Given the description of an element on the screen output the (x, y) to click on. 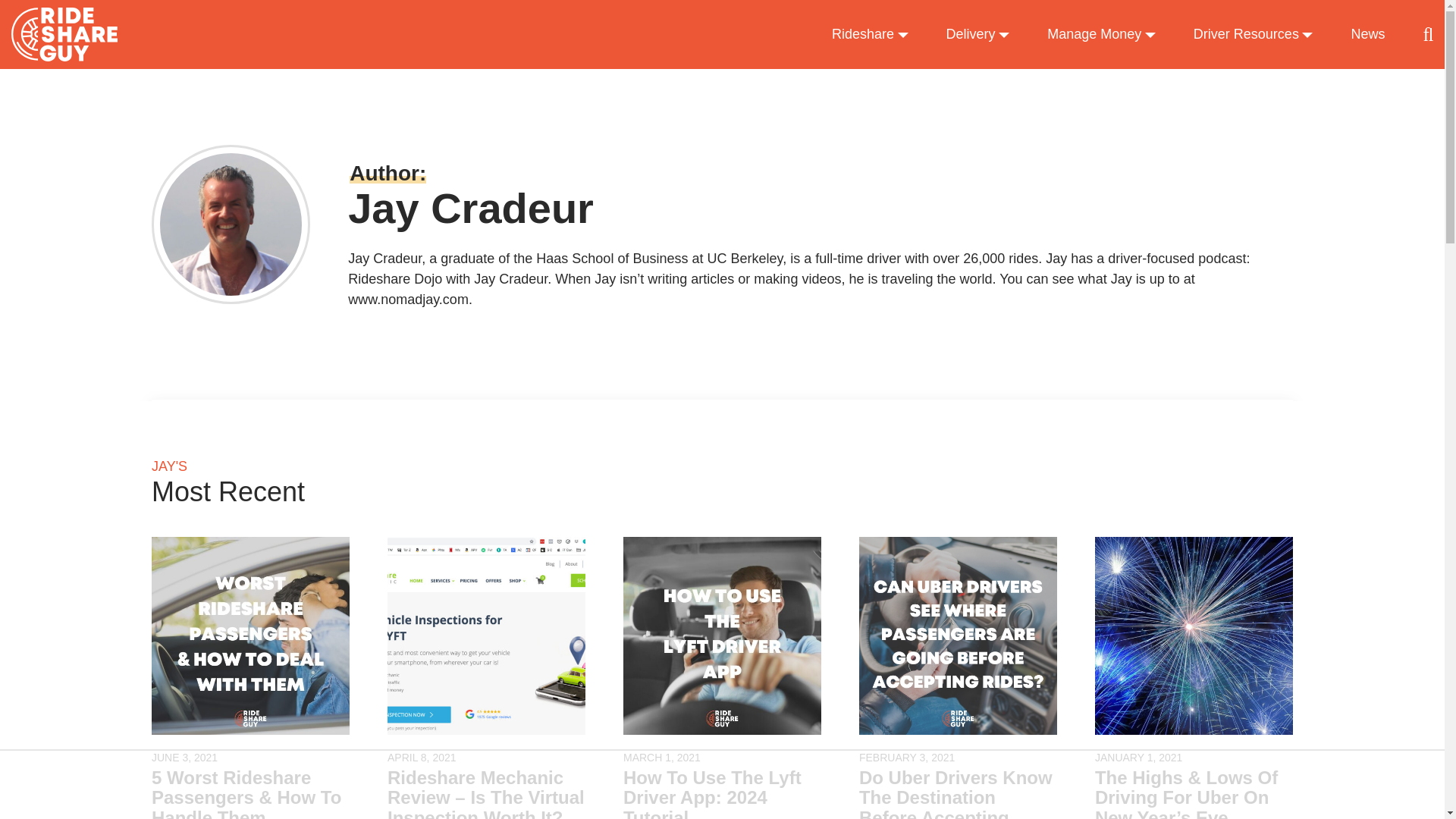
Manage Money (1101, 35)
Delivery (978, 35)
Driver Resources (1253, 35)
How To Use The Lyft Driver App: 2024 Tutorial (722, 793)
News (1367, 35)
Rideshare (869, 35)
Do Uber Drivers Know The Destination Before Accepting Rides? (958, 793)
